Given the description of an element on the screen output the (x, y) to click on. 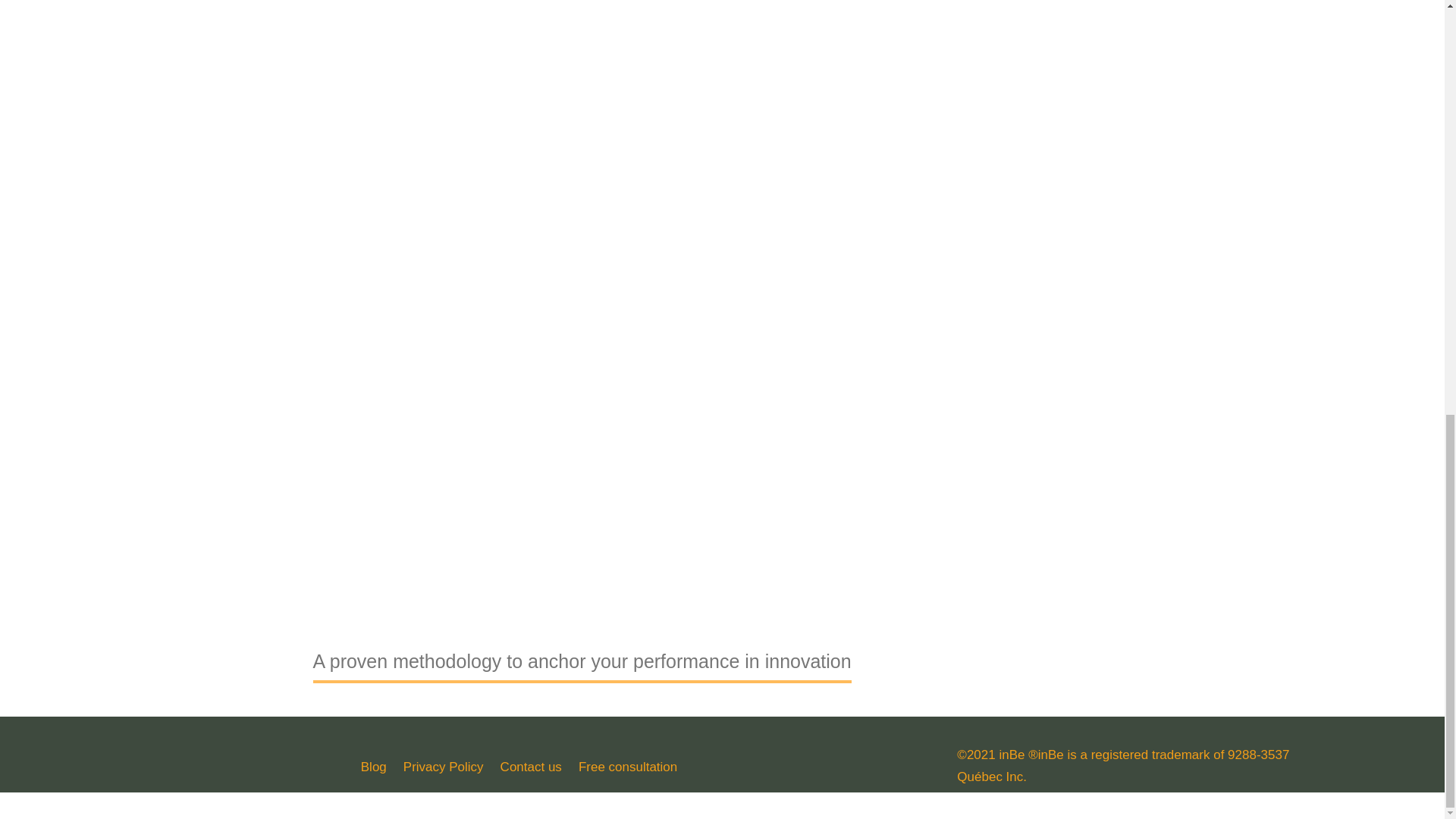
Privacy Policy (443, 764)
Contact us (531, 764)
Free consultation (627, 764)
Blog (374, 764)
